Given the description of an element on the screen output the (x, y) to click on. 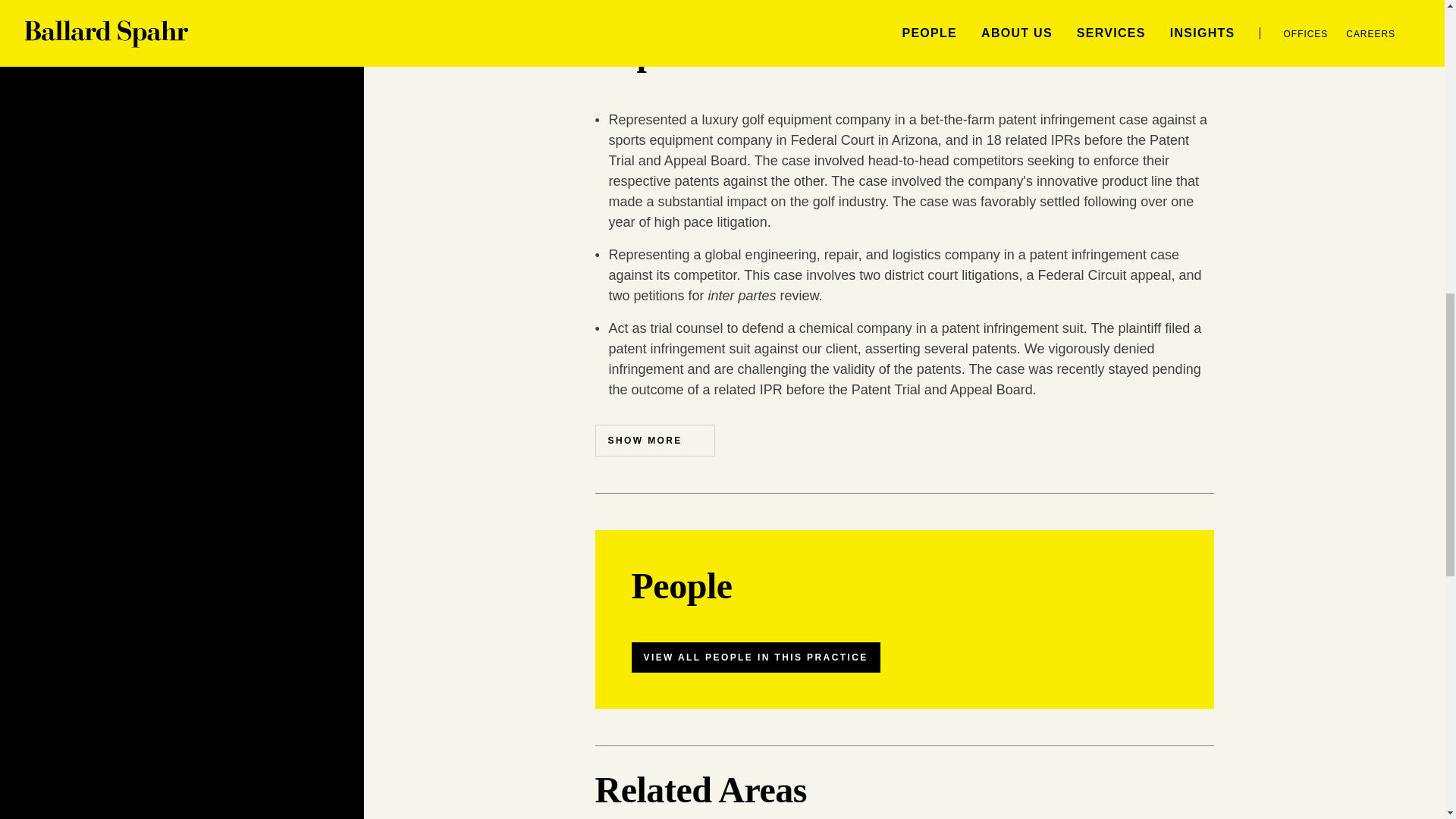
VIEW ALL PEOPLE IN THIS PRACTICE (754, 657)
SHOW MORE (654, 440)
